Given the description of an element on the screen output the (x, y) to click on. 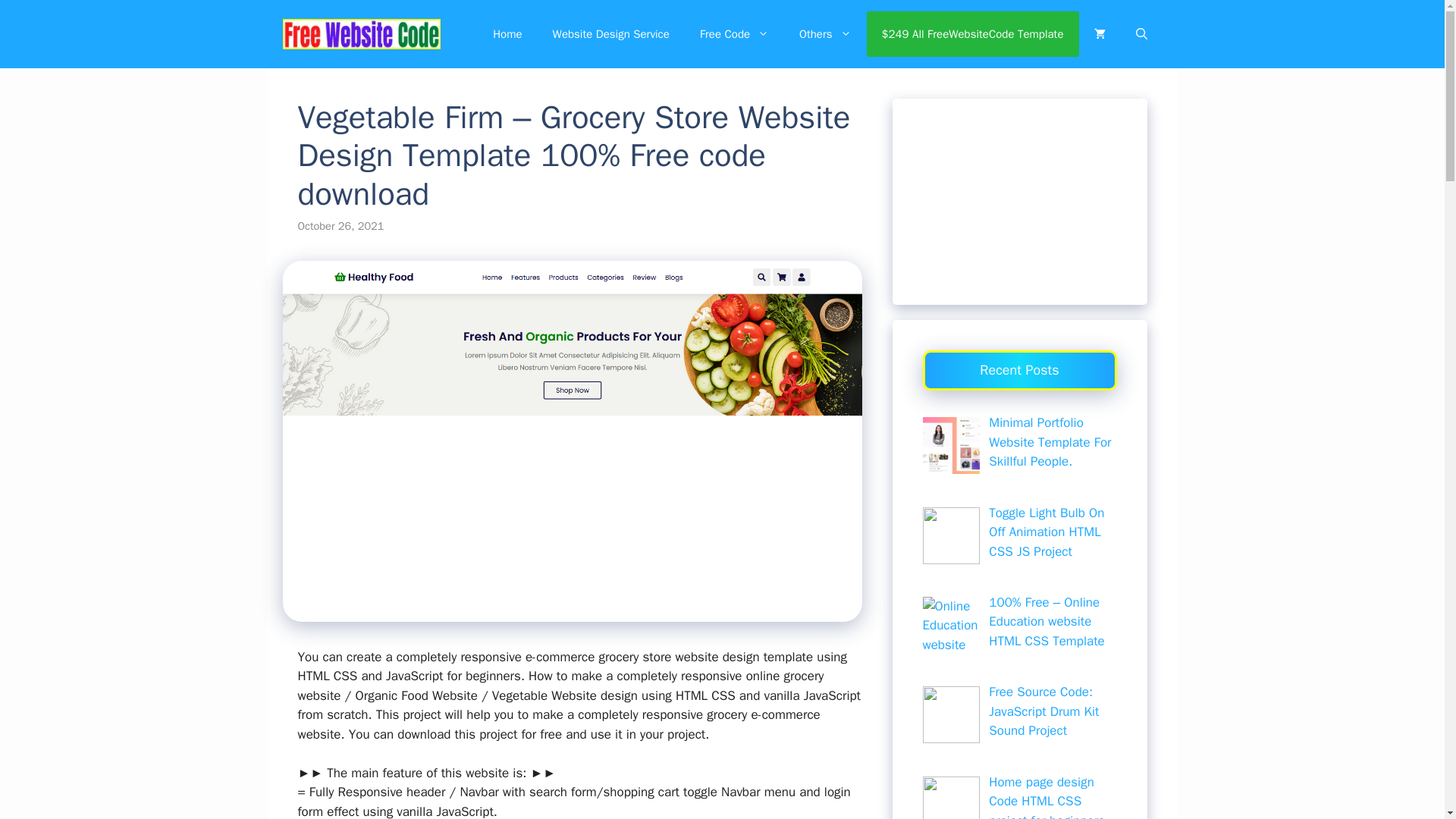
Free Source Code: JavaScript Drum Kit Sound Project 5 (949, 714)
Toggle Light Bulb On Off Animation HTML CSS JS Project 3 (949, 535)
Home page design Code HTML CSS project for beginners 6 (949, 797)
View your shopping cart (1098, 33)
FreeWebsiteCode (361, 33)
Minimal Portfolio Website Template For Skillful People. 2 (949, 445)
